Given the description of an element on the screen output the (x, y) to click on. 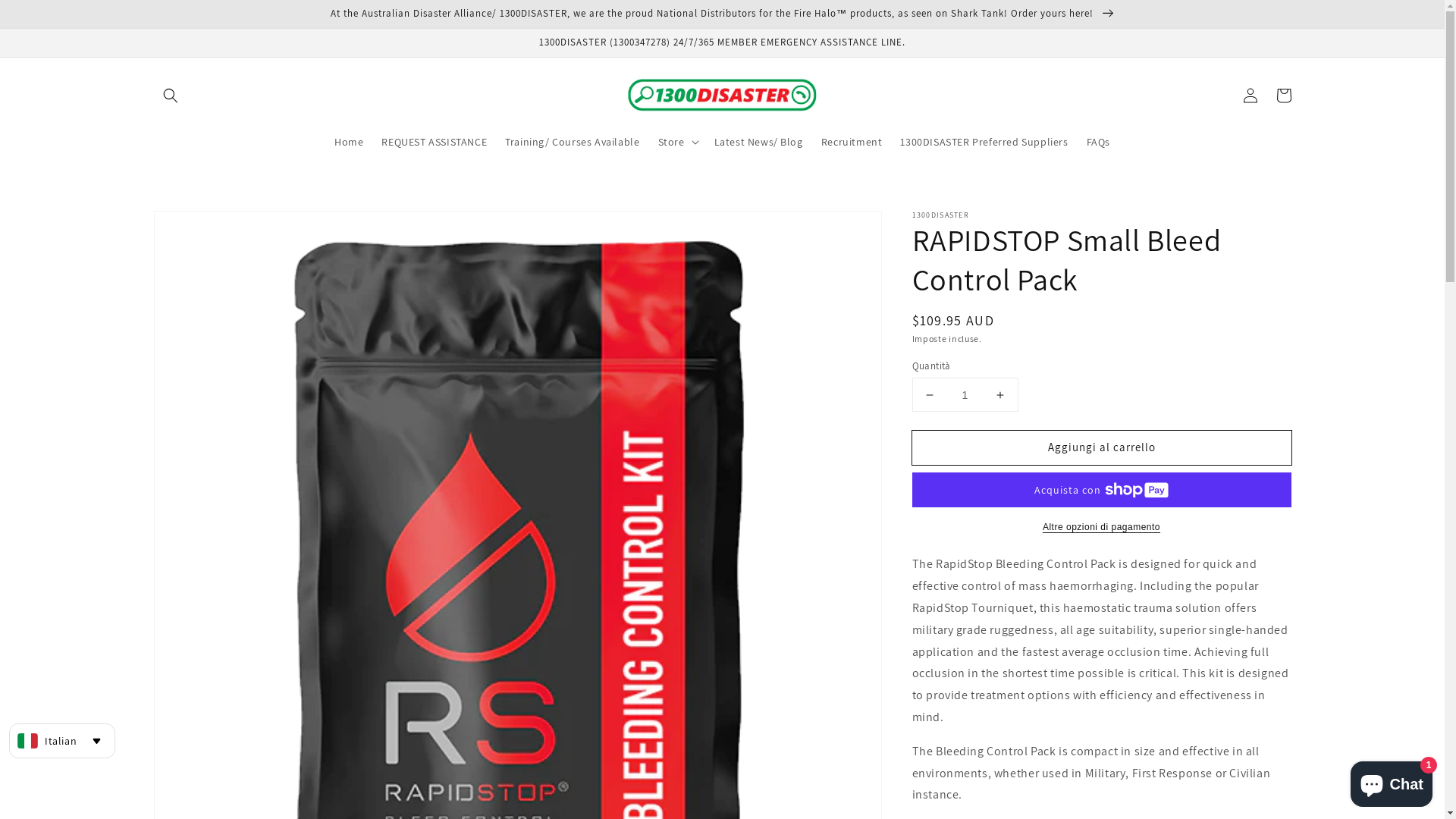
Aggiungi al carrello Element type: text (1100, 447)
Carrello Element type: text (1282, 95)
Latest News/ Blog Element type: text (758, 141)
Training/ Courses Available Element type: text (571, 141)
REQUEST ASSISTANCE Element type: text (433, 141)
Passa alle informazioni sul prodotto Element type: text (198, 227)
Chat negozio online di Shopify Element type: hover (1391, 780)
1300DISASTER Preferred Suppliers Element type: text (983, 141)
Home Element type: text (348, 141)
Accedi Element type: text (1249, 95)
FAQs Element type: text (1098, 141)
Altre opzioni di pagamento Element type: text (1100, 526)
Recruitment Element type: text (851, 141)
